Given the description of an element on the screen output the (x, y) to click on. 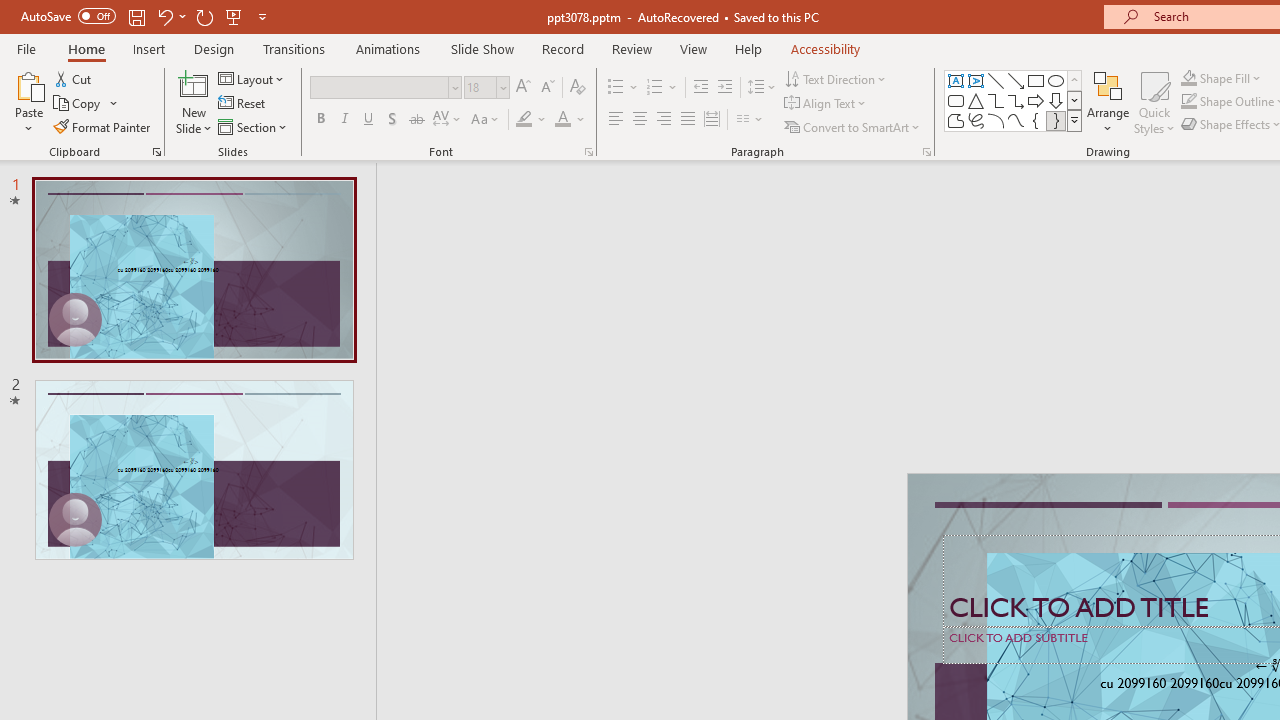
Bold (320, 119)
Underline (369, 119)
Connector: Elbow (995, 100)
Font (379, 87)
Curve (1016, 120)
Font Size (480, 87)
Paste (28, 102)
Align Left (616, 119)
Rectangle: Rounded Corners (955, 100)
Decrease Indent (700, 87)
Shape Outline Green, Accent 1 (1188, 101)
